Given the description of an element on the screen output the (x, y) to click on. 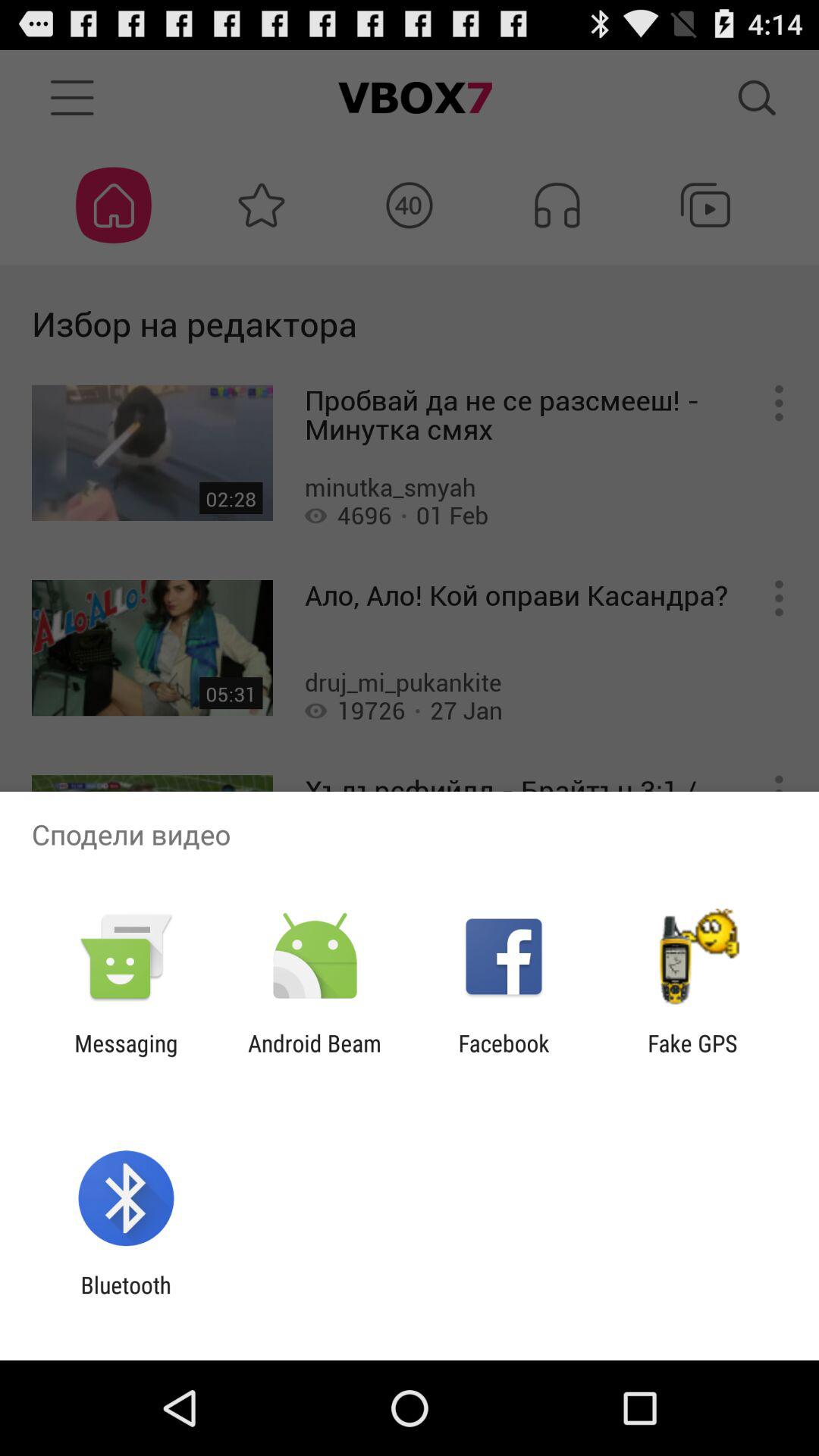
launch android beam (314, 1056)
